Given the description of an element on the screen output the (x, y) to click on. 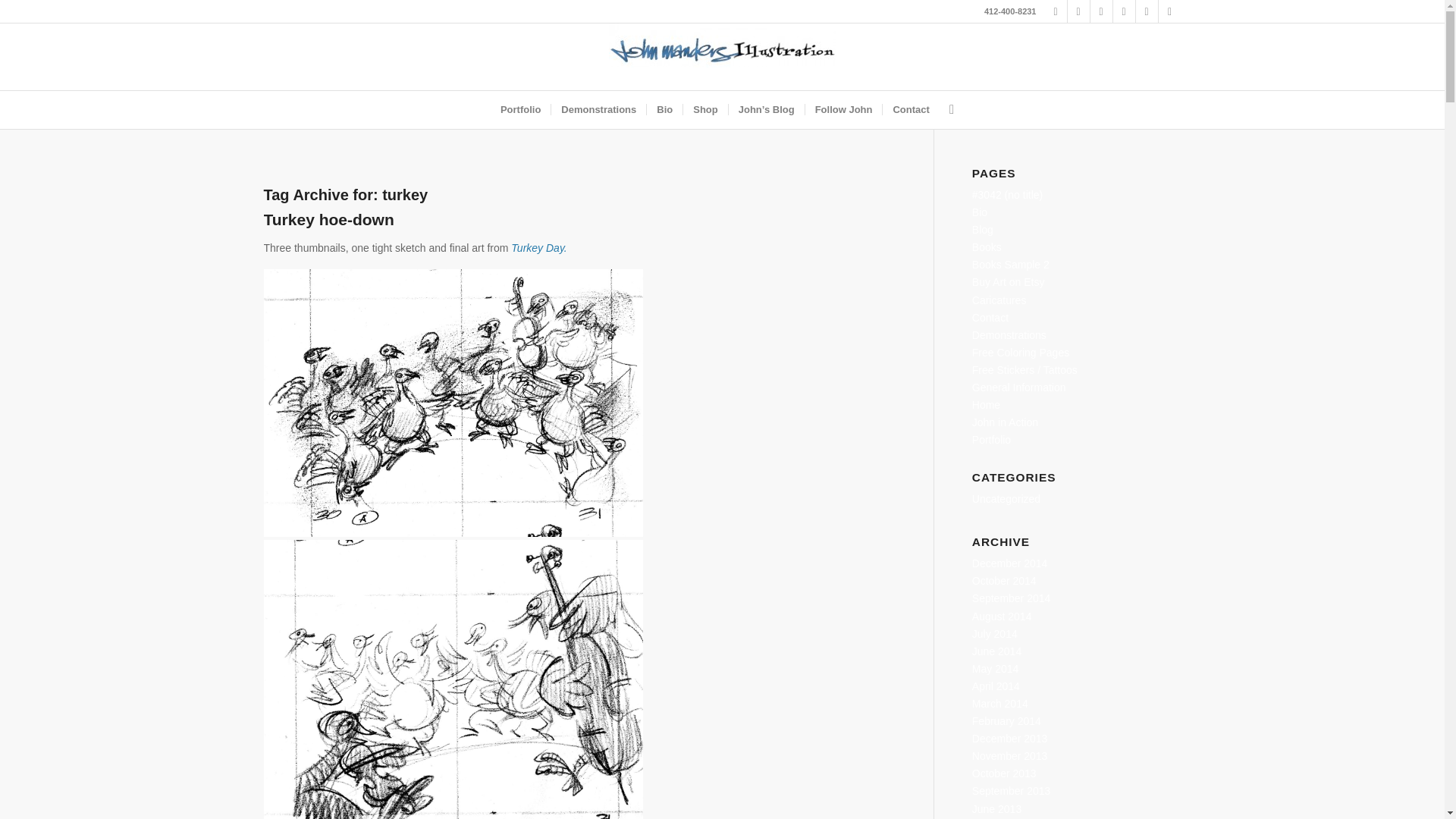
Instagram (1169, 11)
Contact (910, 109)
Portfolio (520, 109)
Facebook (1056, 11)
X (1078, 11)
Permanent Link: Turkey hoe-down (328, 219)
Tumblr (1101, 11)
Shop (705, 109)
Turkey Day. (538, 247)
Bio (664, 109)
turk.tn.3031a (453, 403)
Demonstrations (598, 109)
Follow John (843, 109)
Turkey hoe-down (328, 219)
LinkedIn (1124, 11)
